Given the description of an element on the screen output the (x, y) to click on. 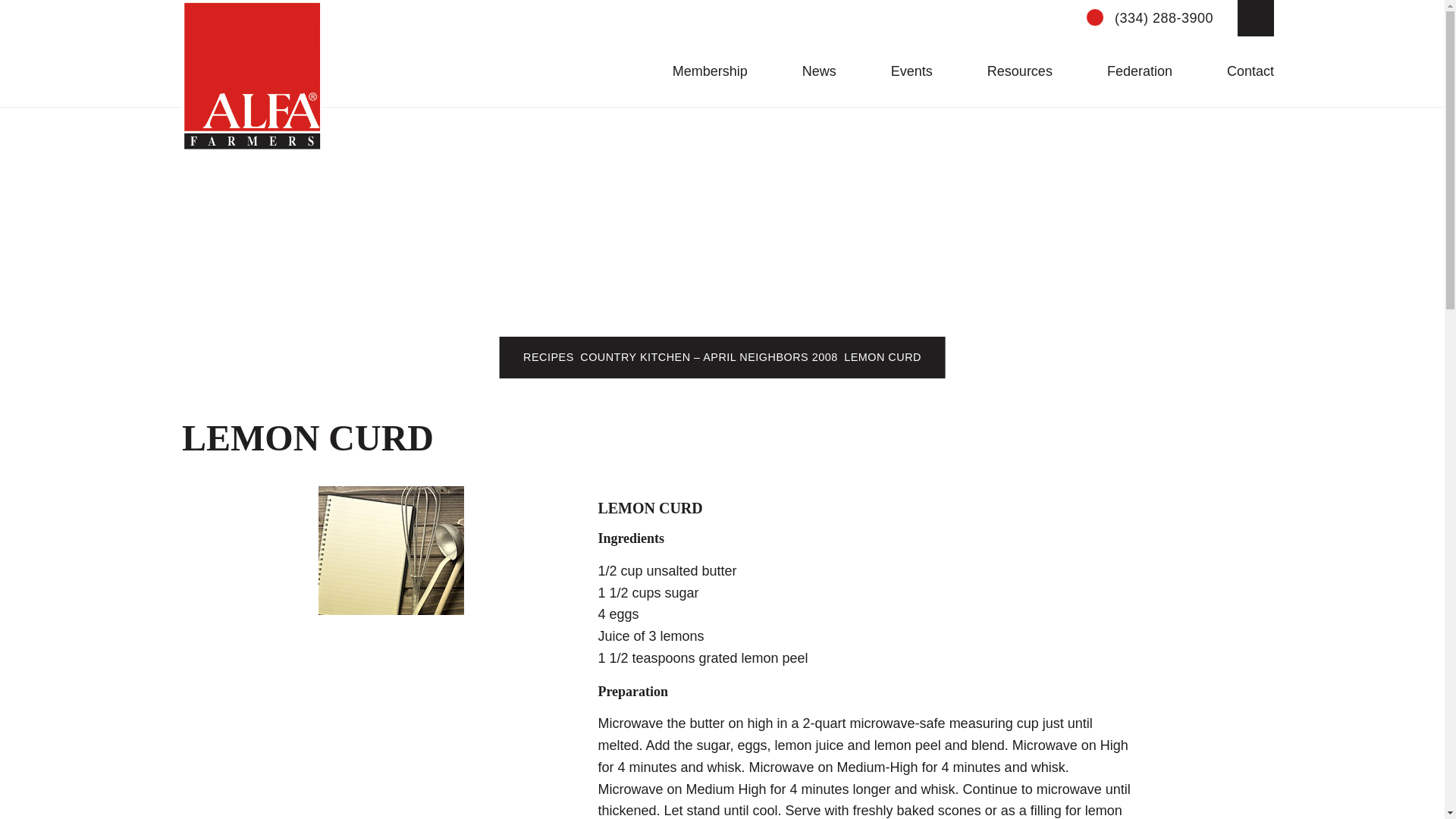
Resources (1010, 71)
Search (416, 12)
Search (1255, 18)
News (809, 71)
Events (902, 71)
Alabama Farmers Federation (251, 75)
Contact (1241, 71)
Federation (1130, 71)
Alabama Farmers Federation (251, 75)
Membership (700, 71)
